Given the description of an element on the screen output the (x, y) to click on. 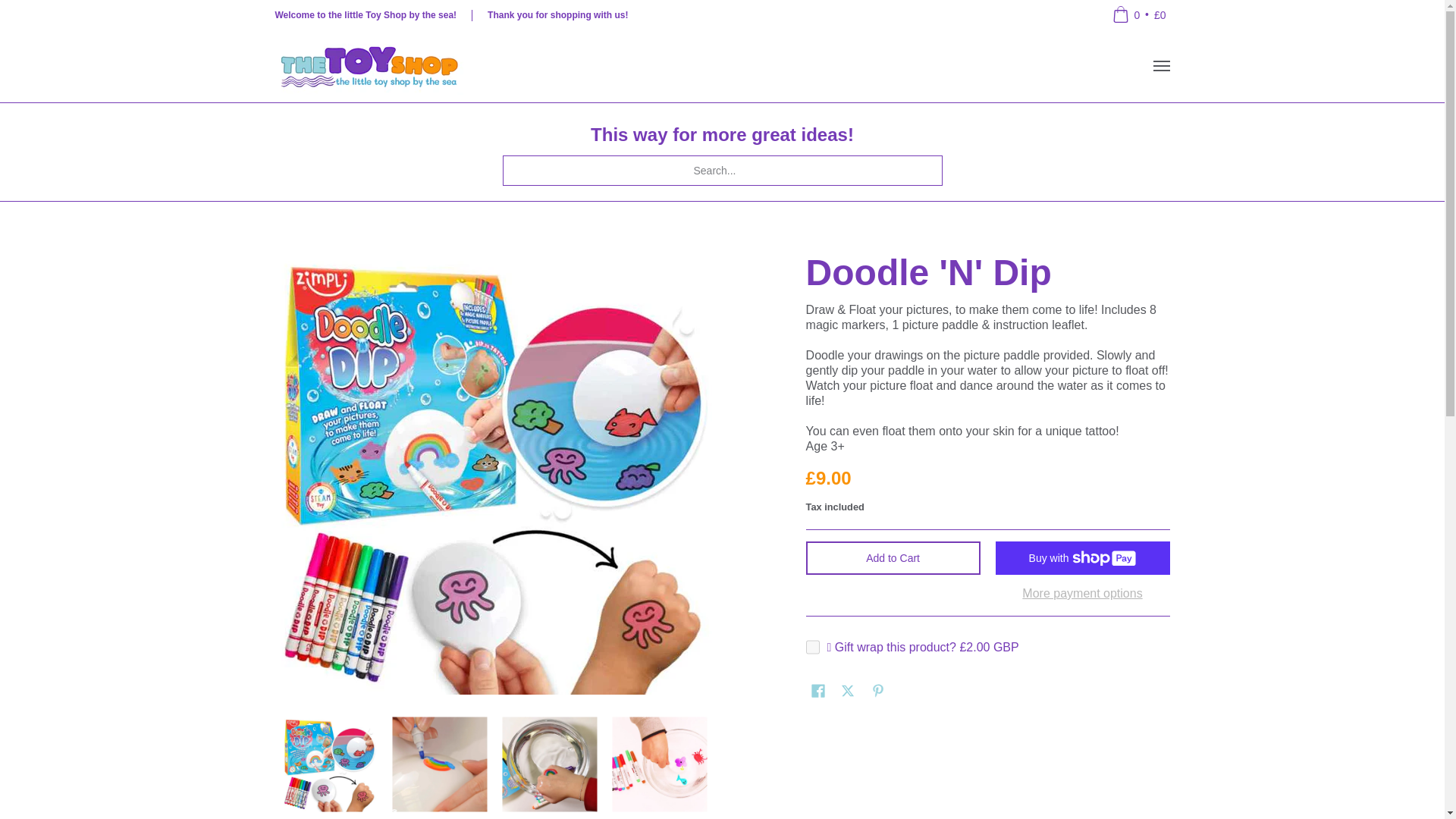
More payment options (1082, 593)
Cart (1138, 15)
45296970498358 (812, 646)
Add to Cart (892, 557)
The Toy Shop (369, 66)
